Given the description of an element on the screen output the (x, y) to click on. 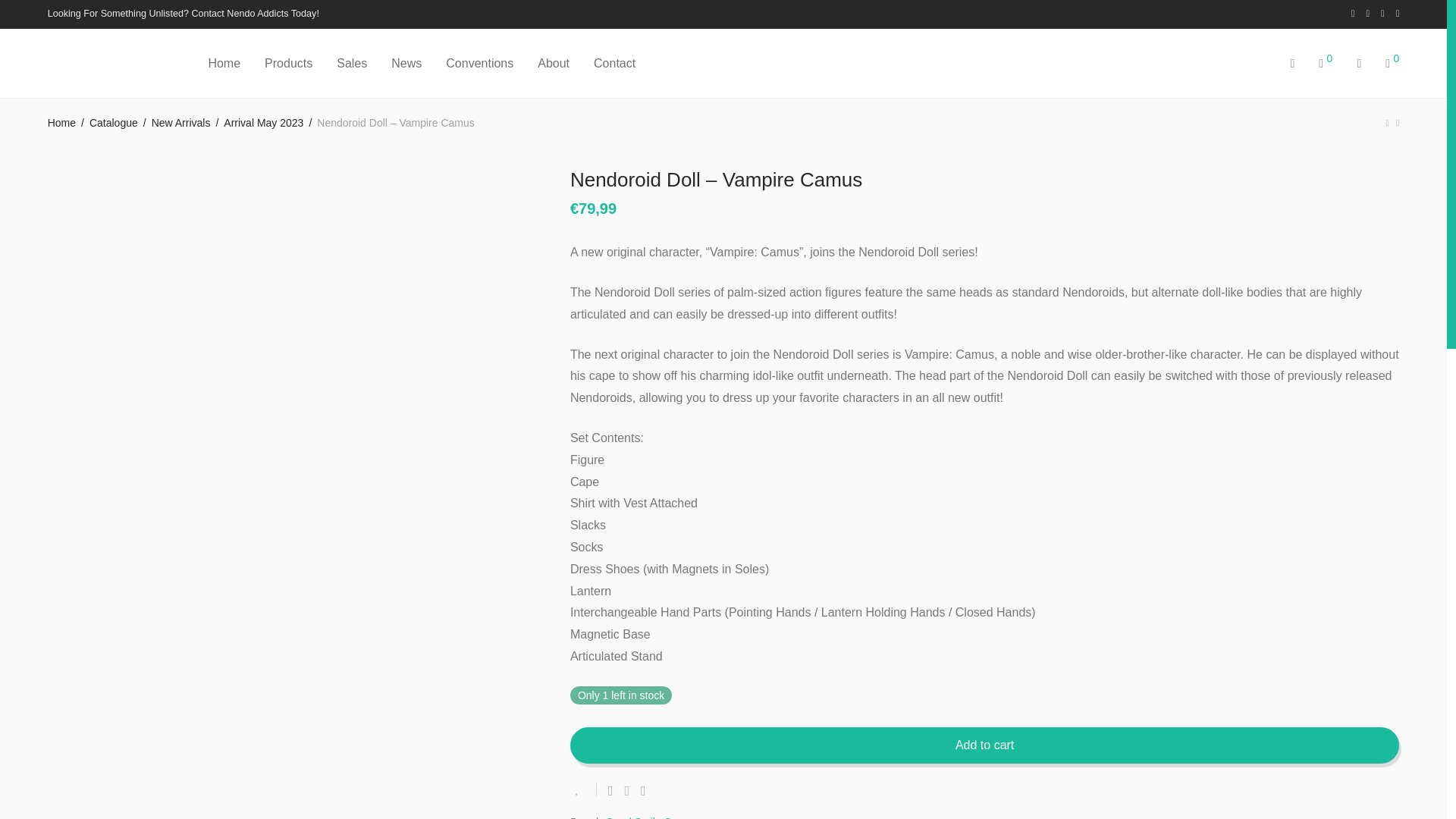
Add to Wishlist (583, 789)
0 (1324, 63)
About (552, 63)
Contact (607, 63)
View brand (657, 815)
Products (287, 63)
Add to cart (984, 745)
Home (61, 122)
0 (1391, 63)
Conventions (479, 63)
